Given the description of an element on the screen output the (x, y) to click on. 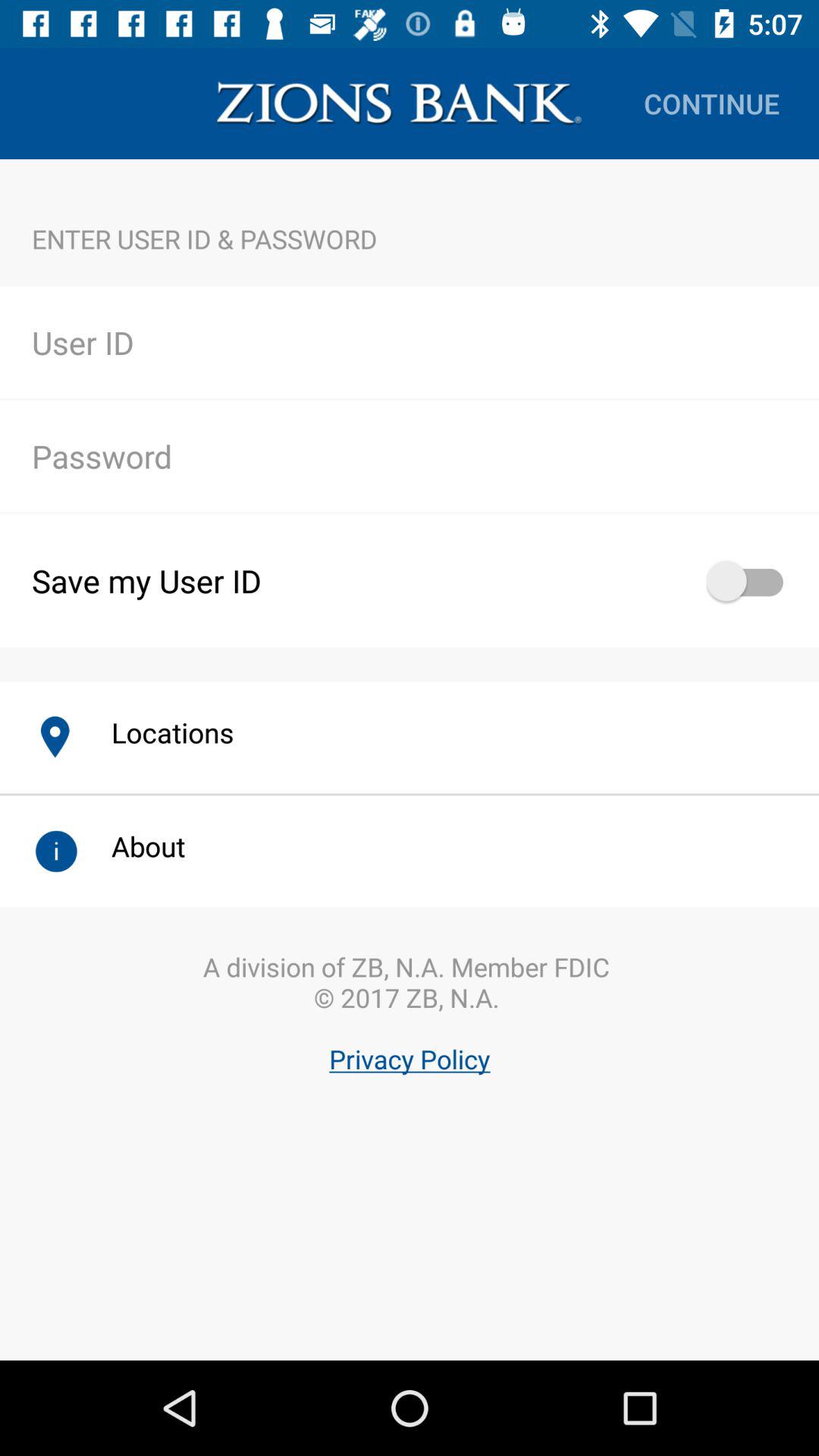
launch the icon to the left of the continue item (399, 103)
